Given the description of an element on the screen output the (x, y) to click on. 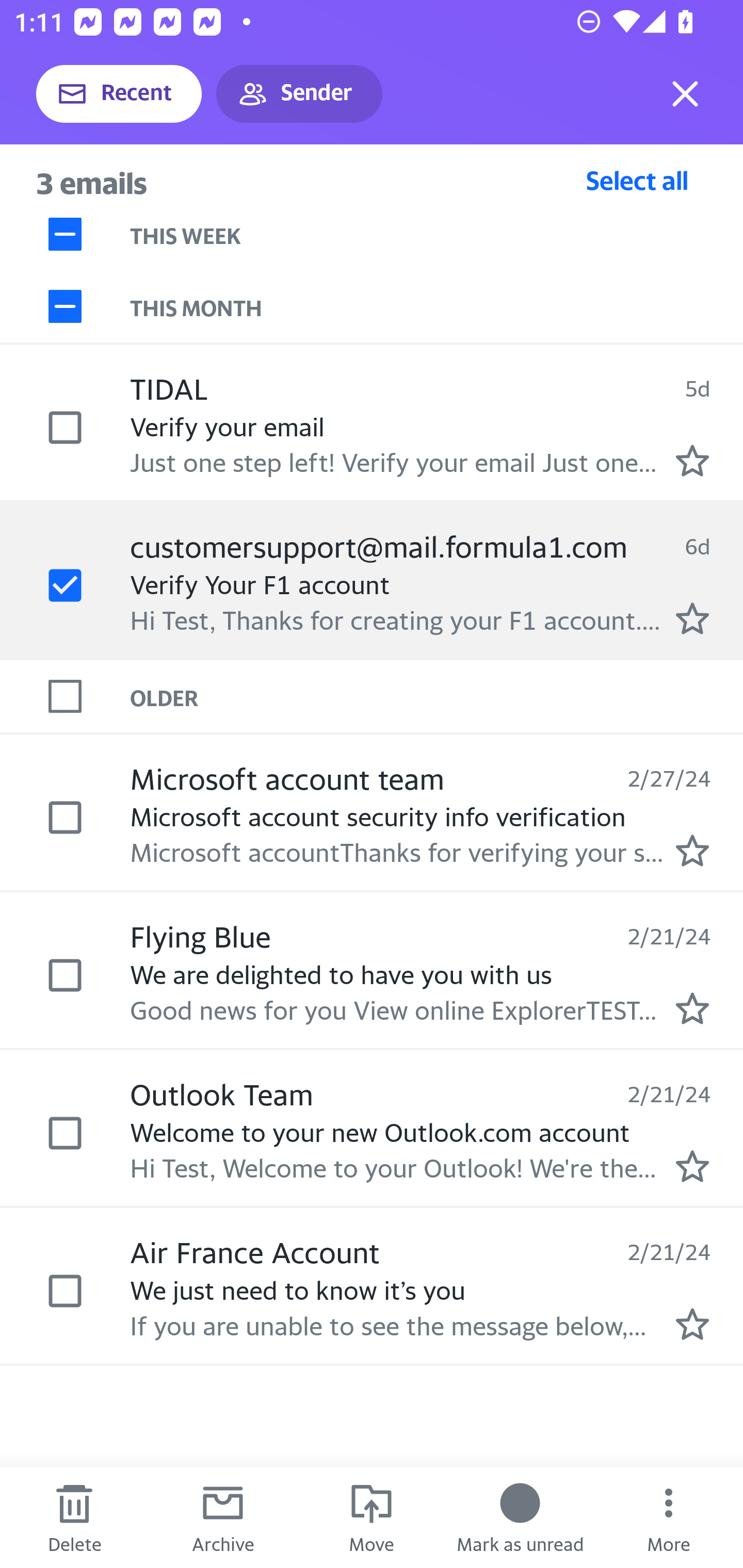
Sender (299, 93)
Exit selection mode (684, 93)
Select all (637, 180)
THIS MONTH (436, 306)
Mark as starred. (692, 460)
Mark as starred. (692, 618)
OLDER (436, 696)
Mark as starred. (692, 850)
Mark as starred. (692, 1008)
Mark as starred. (692, 1165)
Mark as starred. (692, 1324)
Delete (74, 1517)
Archive (222, 1517)
Move (371, 1517)
Mark as unread (519, 1517)
More (668, 1517)
